Given the description of an element on the screen output the (x, y) to click on. 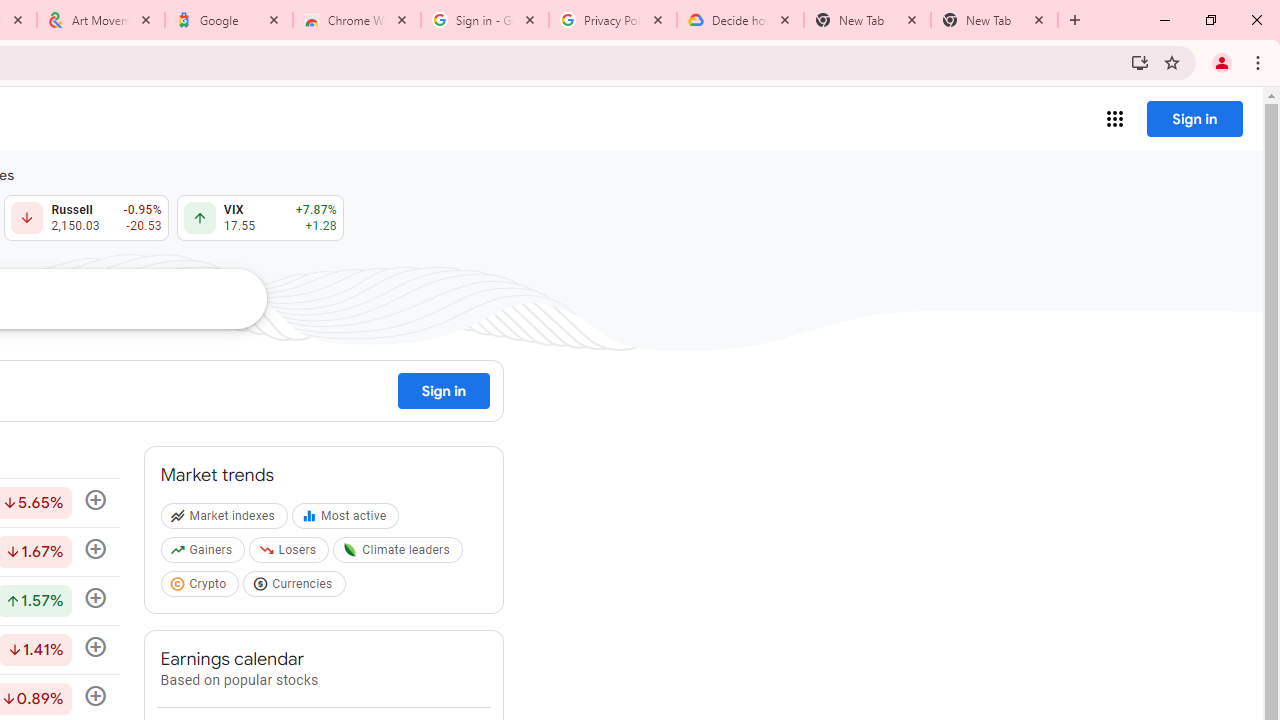
Most active (347, 520)
VIX 17.55 Up by 7.87% +1.28 (260, 218)
Currencies (296, 587)
Google (229, 20)
GLeaf logo (349, 550)
Sign in - Google Accounts (485, 20)
Russell 2,150.03 Down by 0.95% -20.53 (85, 218)
Sign in (1194, 118)
Google apps (1114, 118)
